Given the description of an element on the screen output the (x, y) to click on. 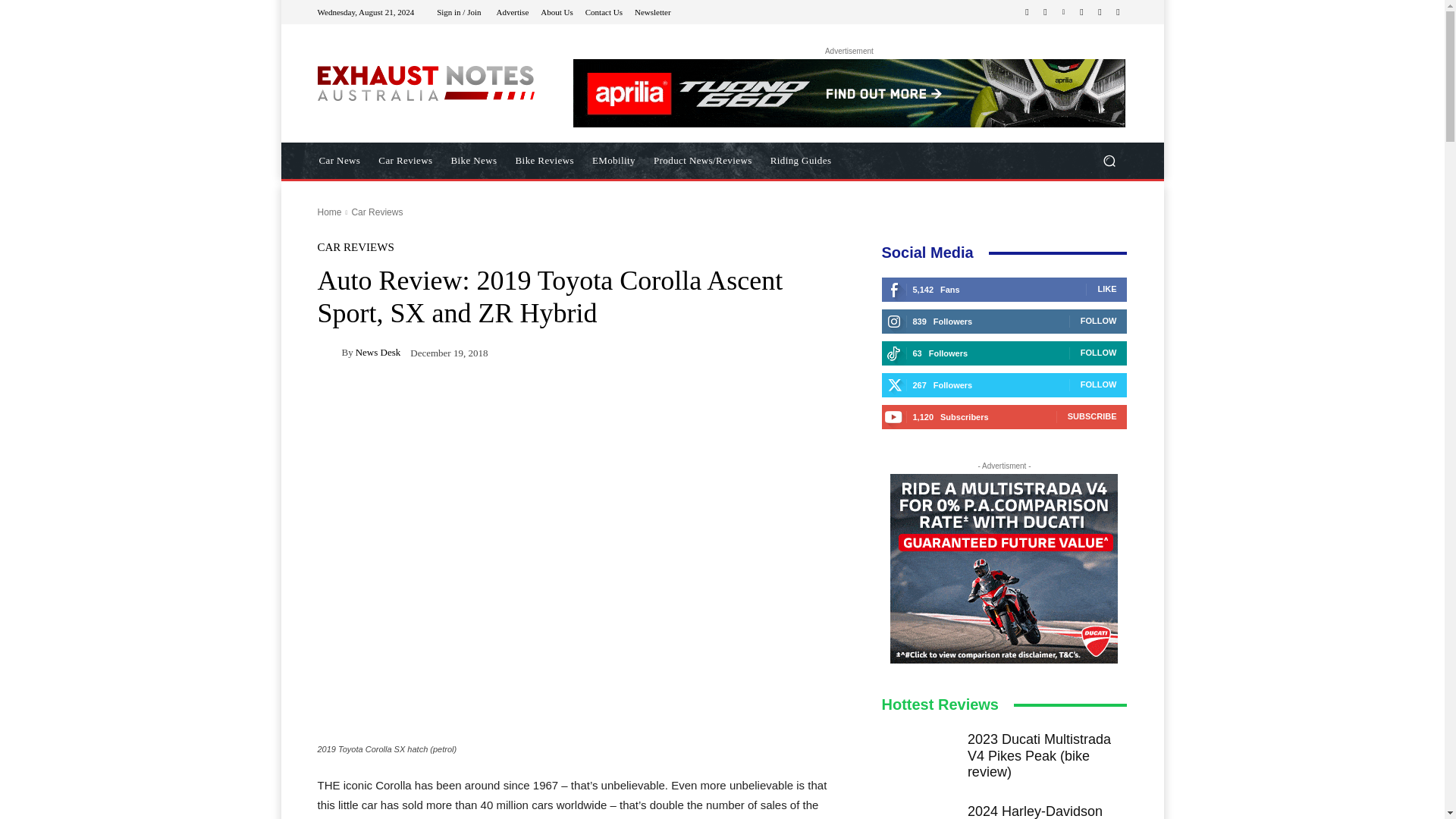
Contact Us (604, 11)
Newsletter (652, 11)
About Us (556, 11)
Car News (338, 160)
Youtube (1117, 12)
Bike News (474, 160)
Instagram (1044, 12)
Car Reviews (405, 160)
EMobility (614, 160)
CAR REVIEWS (355, 247)
